Given the description of an element on the screen output the (x, y) to click on. 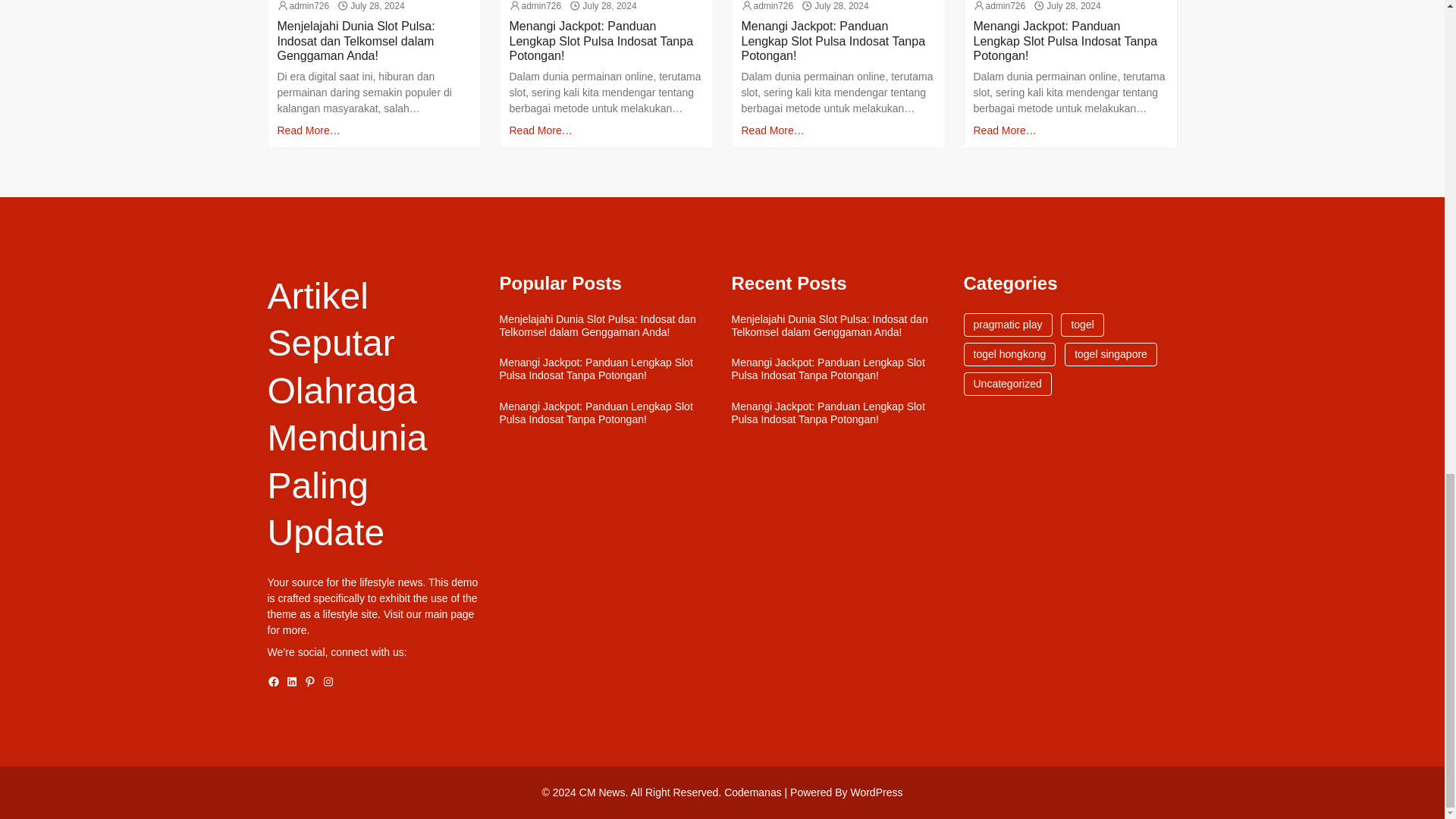
Instagram (327, 681)
LinkedIn (291, 681)
Pinterest (308, 681)
Facebook (272, 681)
